Given the description of an element on the screen output the (x, y) to click on. 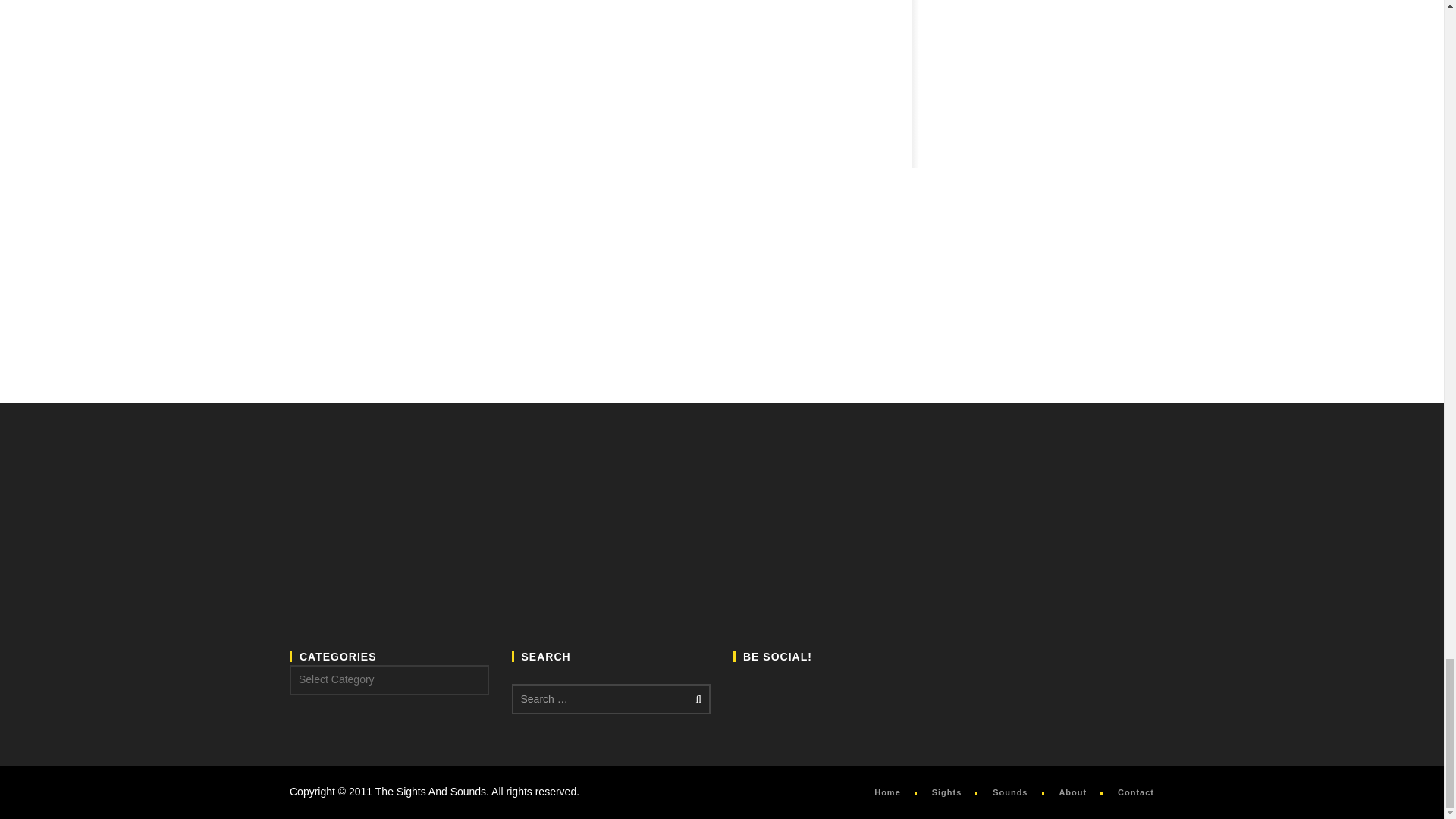
Search (695, 698)
Search (695, 698)
